Given the description of an element on the screen output the (x, y) to click on. 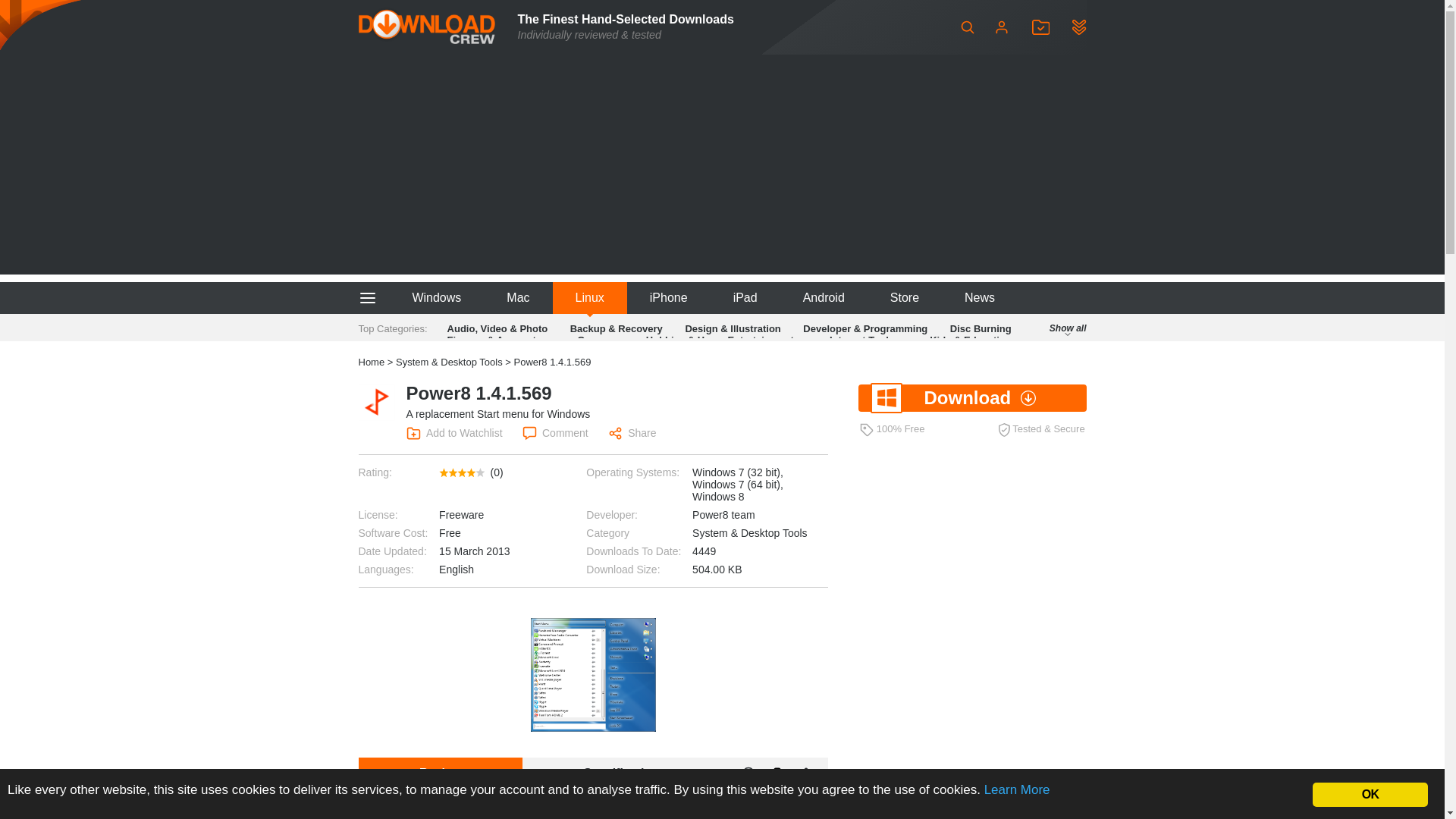
iPad (745, 297)
Windows (435, 297)
Games (593, 339)
Disc Burning (980, 328)
Android (823, 297)
Mac (517, 297)
Linux (590, 297)
iPhone (668, 297)
Downloadcrew - Home (426, 26)
